Given the description of an element on the screen output the (x, y) to click on. 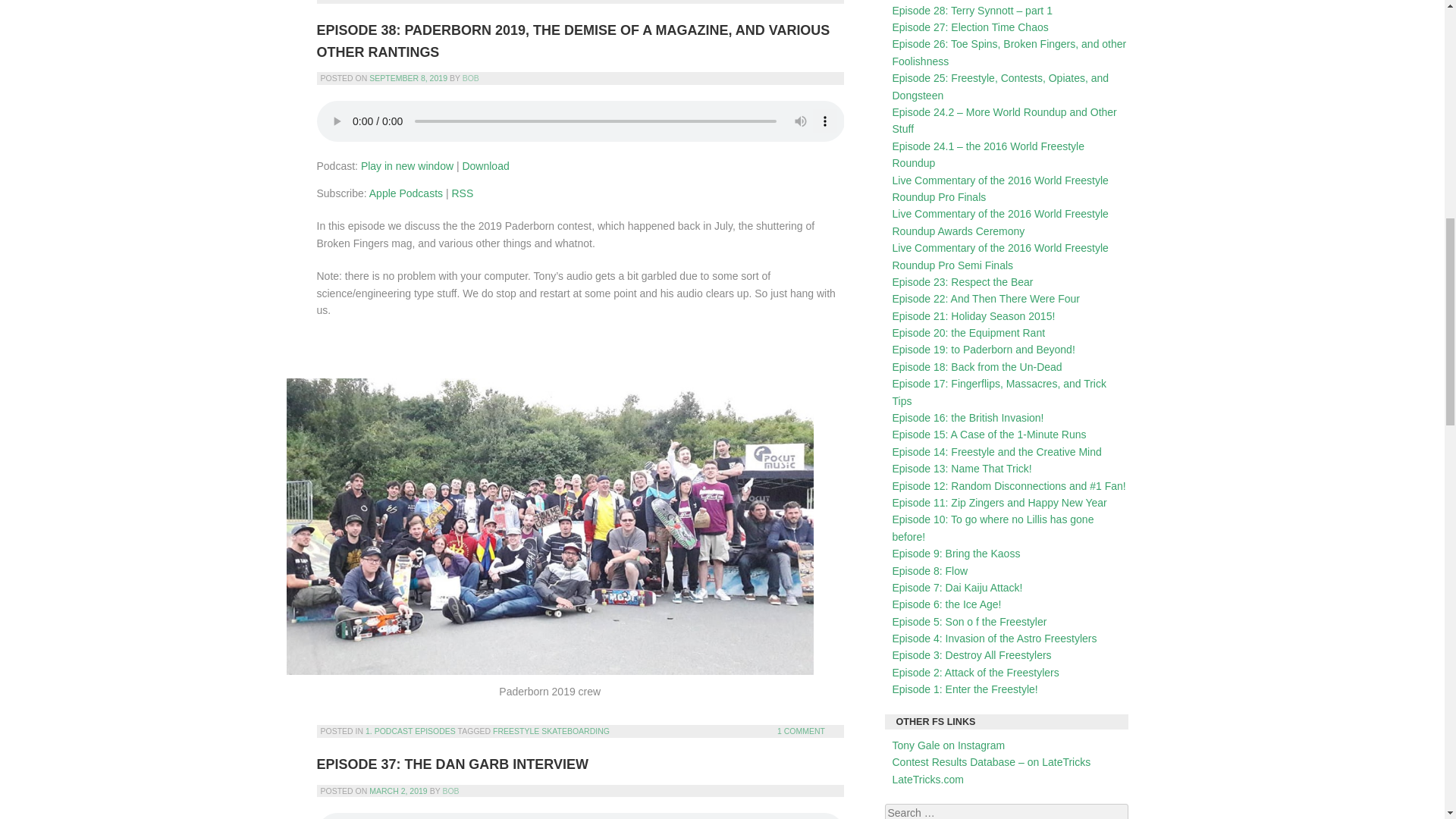
Subscribe via RSS (462, 193)
Download (484, 165)
BOB (471, 77)
Play in new window (406, 165)
1. PODCAST EPISODES (410, 730)
FREESTYLE SKATEBOARDING (551, 730)
SEPTEMBER 8, 2019 (407, 77)
LEAVE A COMMENT (787, 0)
Subscribe on Apple Podcasts (405, 193)
1. PODCAST EPISODES (410, 0)
RSS (462, 193)
Play in new window (406, 165)
1 COMMENT (801, 730)
Download (484, 165)
